Given the description of an element on the screen output the (x, y) to click on. 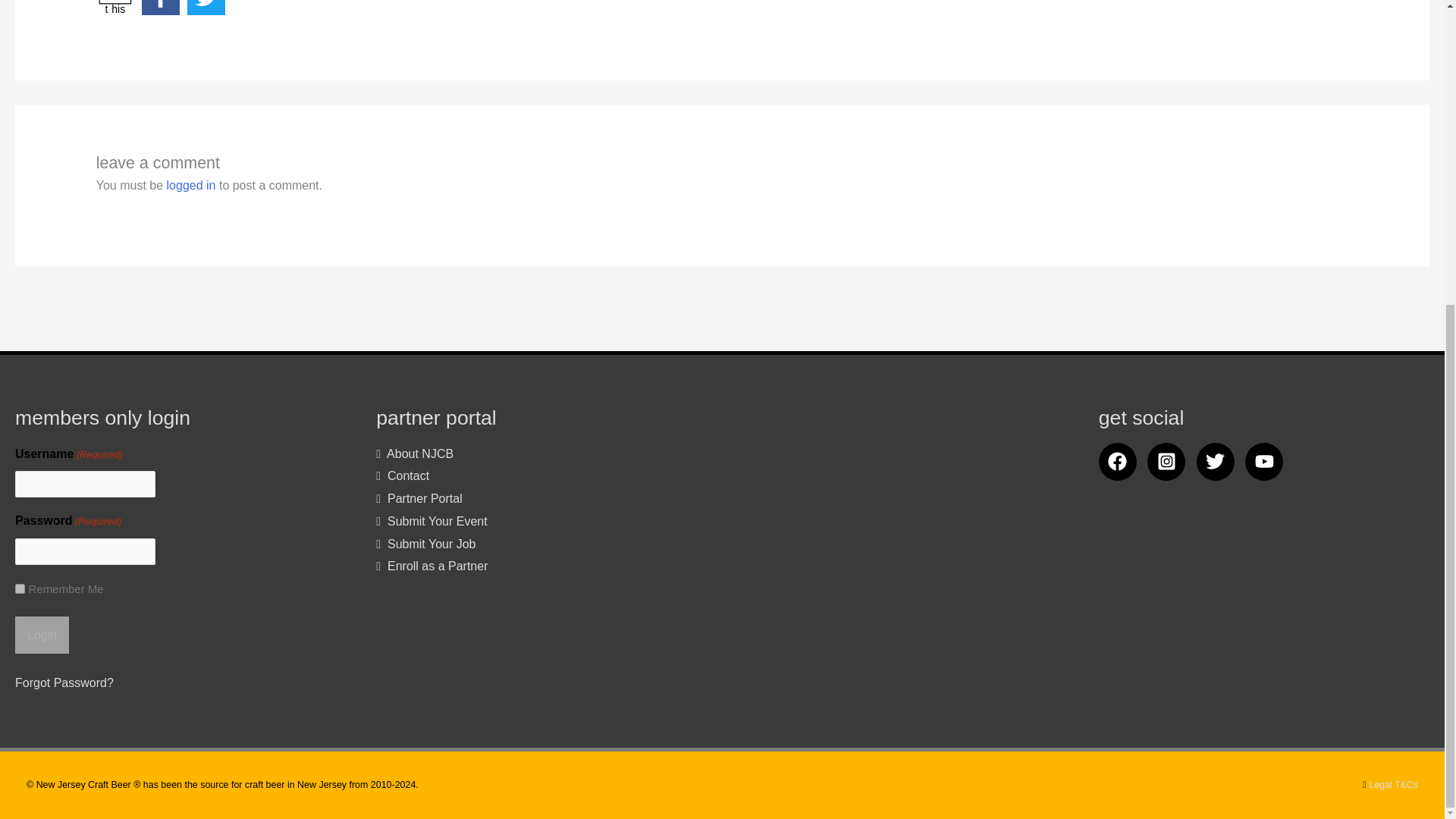
1 (114, 7)
Login (19, 588)
